Given the description of an element on the screen output the (x, y) to click on. 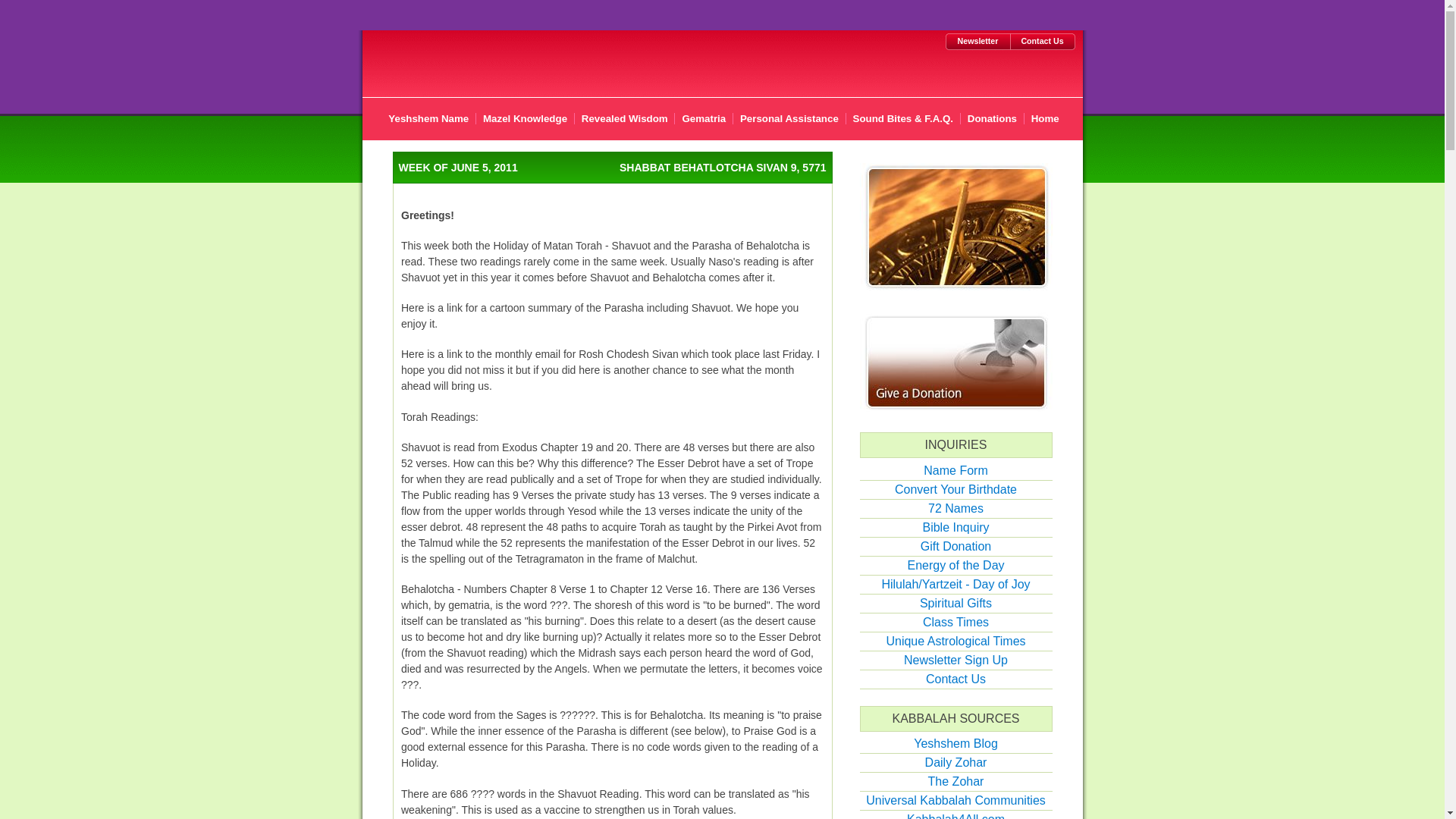
Energy of the Day (955, 564)
Personal Assistance (788, 118)
Yeshshem Name (428, 118)
Gift Donation (955, 545)
Bible Inquiry (954, 526)
Yeshshem Blog (955, 743)
Contact Us (955, 678)
Unique Astrological Times (955, 640)
Home (1044, 118)
The Zohar (956, 780)
